Given the description of an element on the screen output the (x, y) to click on. 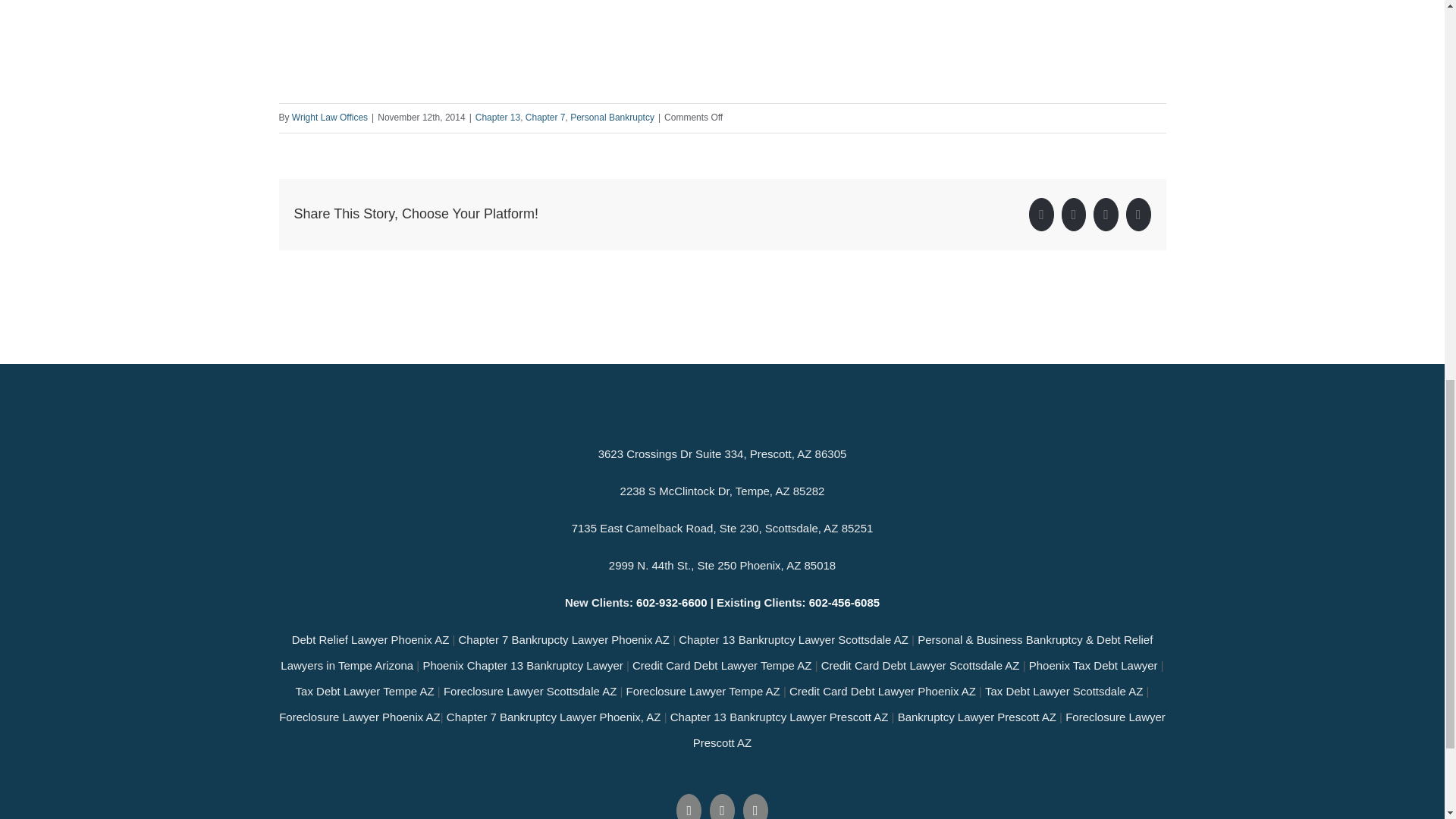
Posts by Wright Law Offices (330, 117)
